Given the description of an element on the screen output the (x, y) to click on. 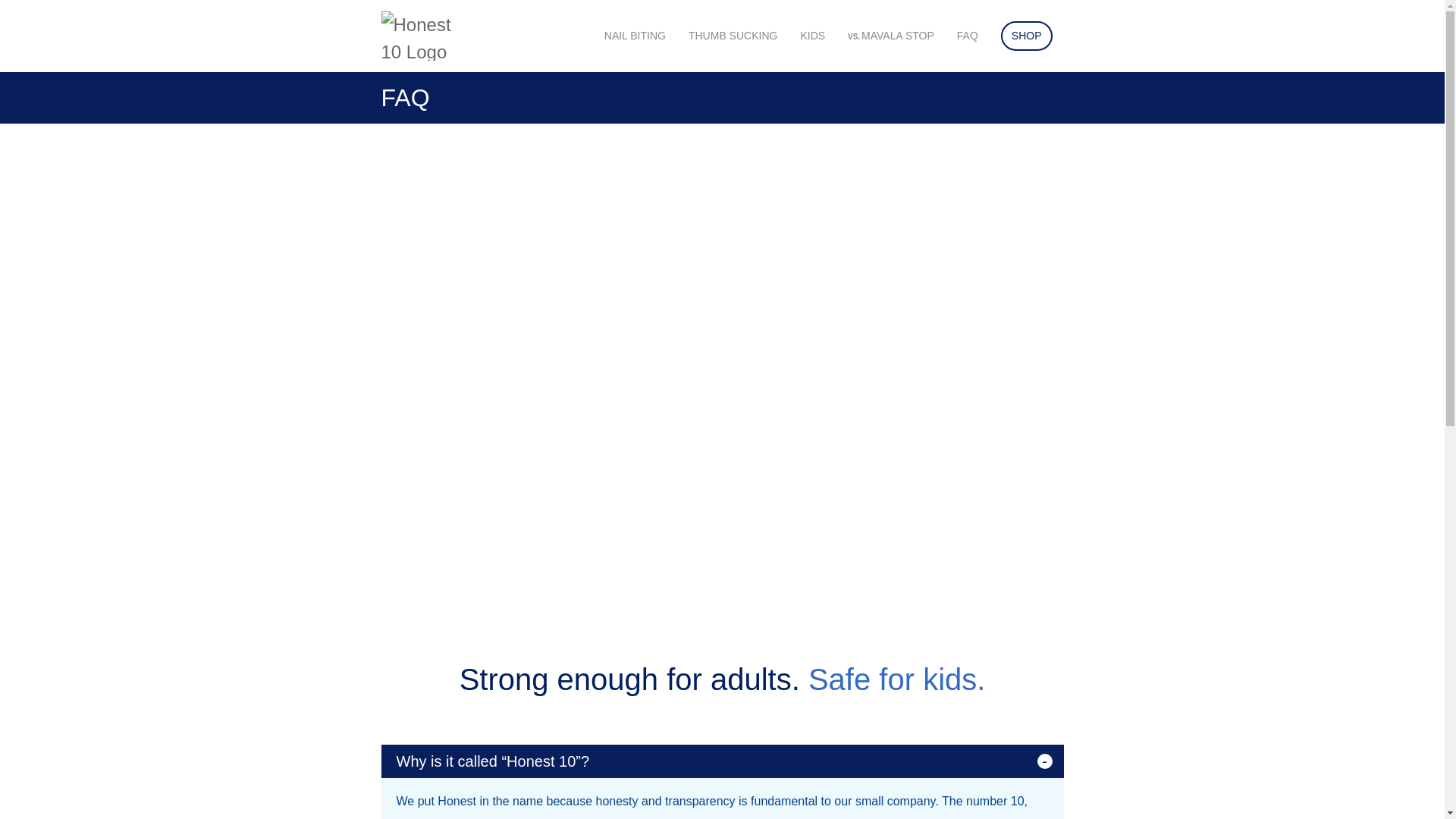
THUMB SUCKING (732, 35)
THUMB SUCKING (890, 35)
Shop (733, 35)
Nail Biting (1026, 35)
SHOP (634, 35)
FAQ (1026, 35)
Kids (967, 35)
NAIL BITING (812, 35)
KIDS (634, 35)
